Given the description of an element on the screen output the (x, y) to click on. 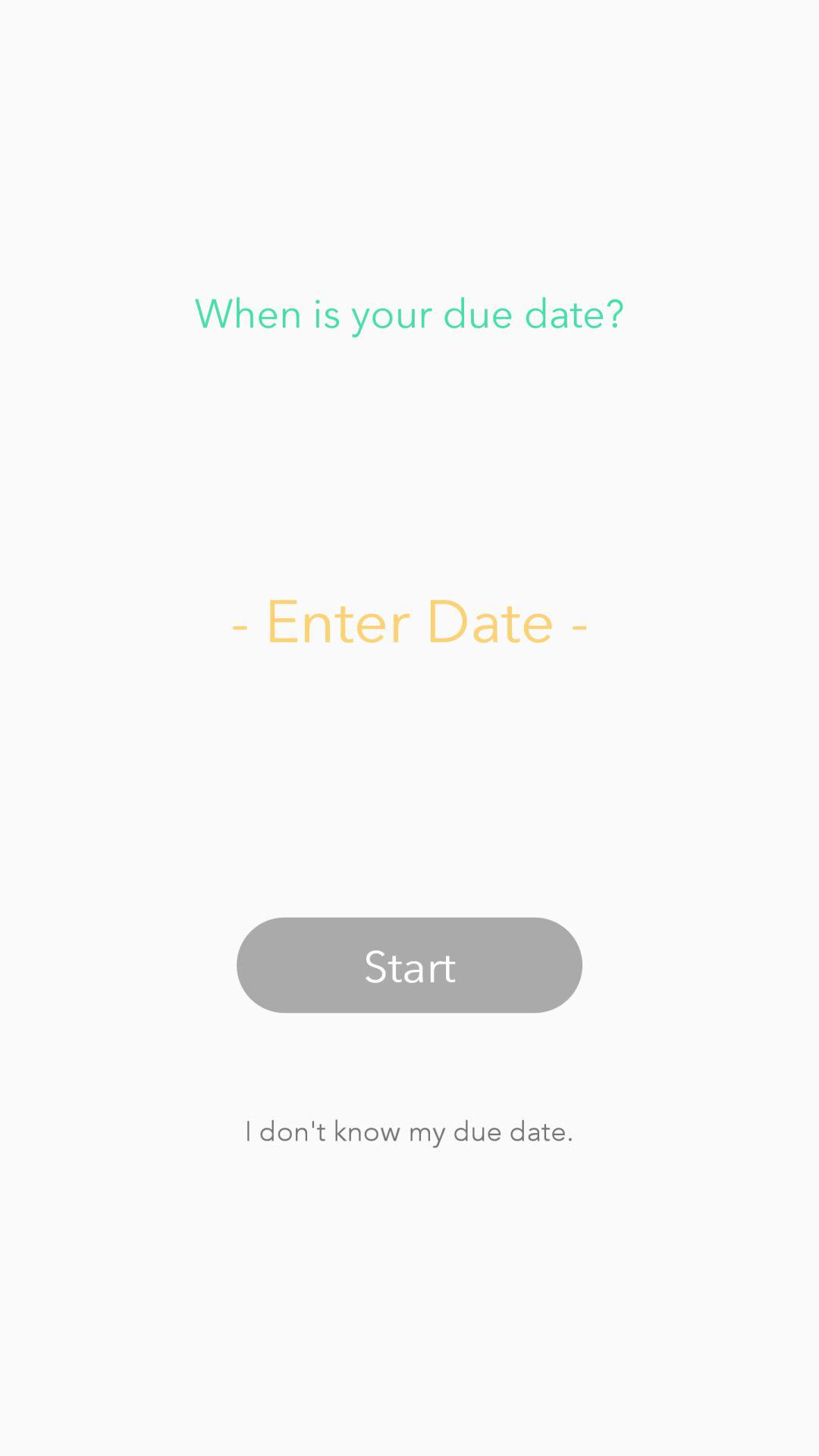
scroll to start icon (409, 964)
